Given the description of an element on the screen output the (x, y) to click on. 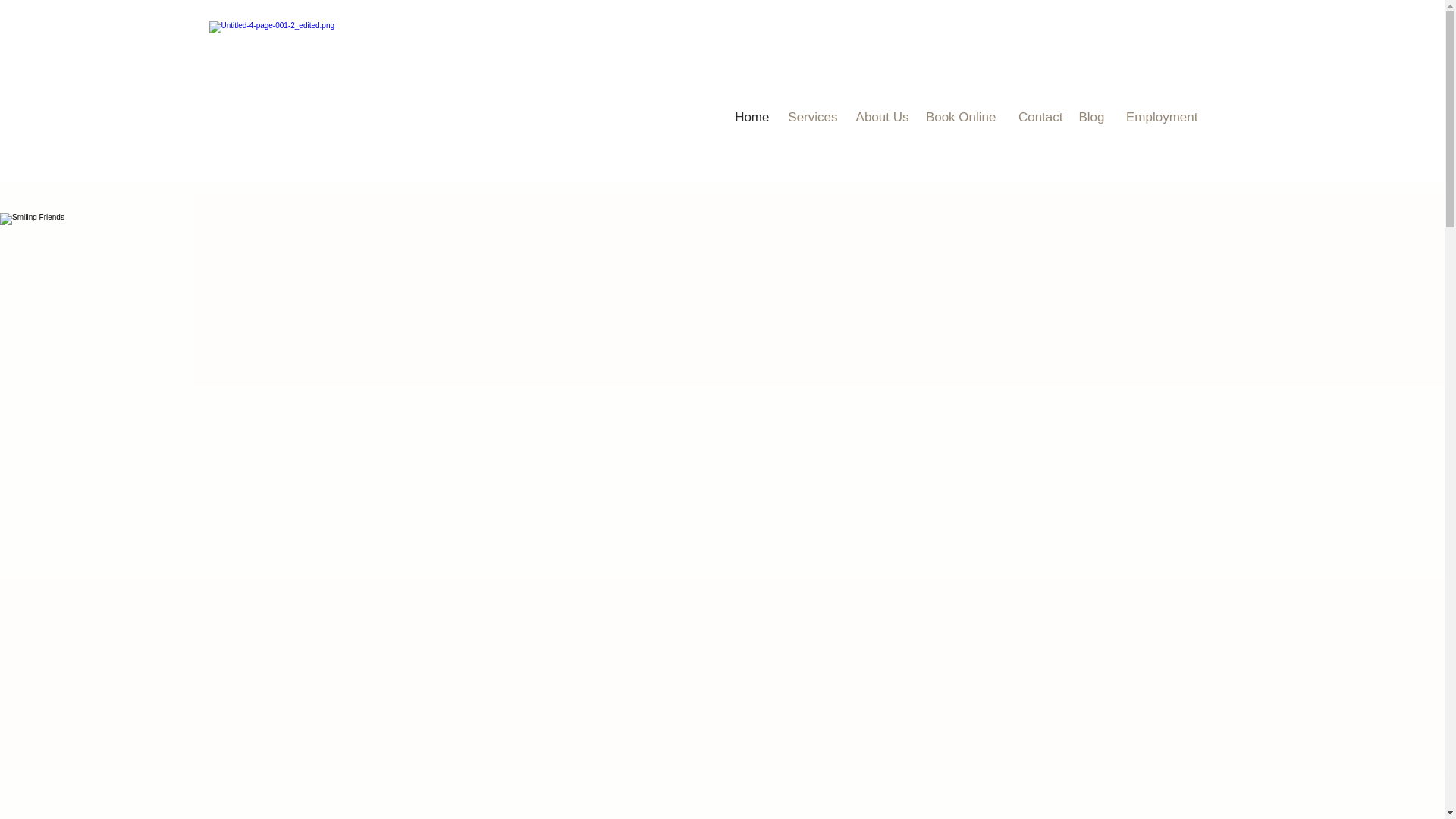
Employment (1158, 117)
Book Online (959, 117)
Services (810, 117)
Home (749, 117)
Blog (1091, 117)
About Us (879, 117)
Contact (1037, 117)
